Given the description of an element on the screen output the (x, y) to click on. 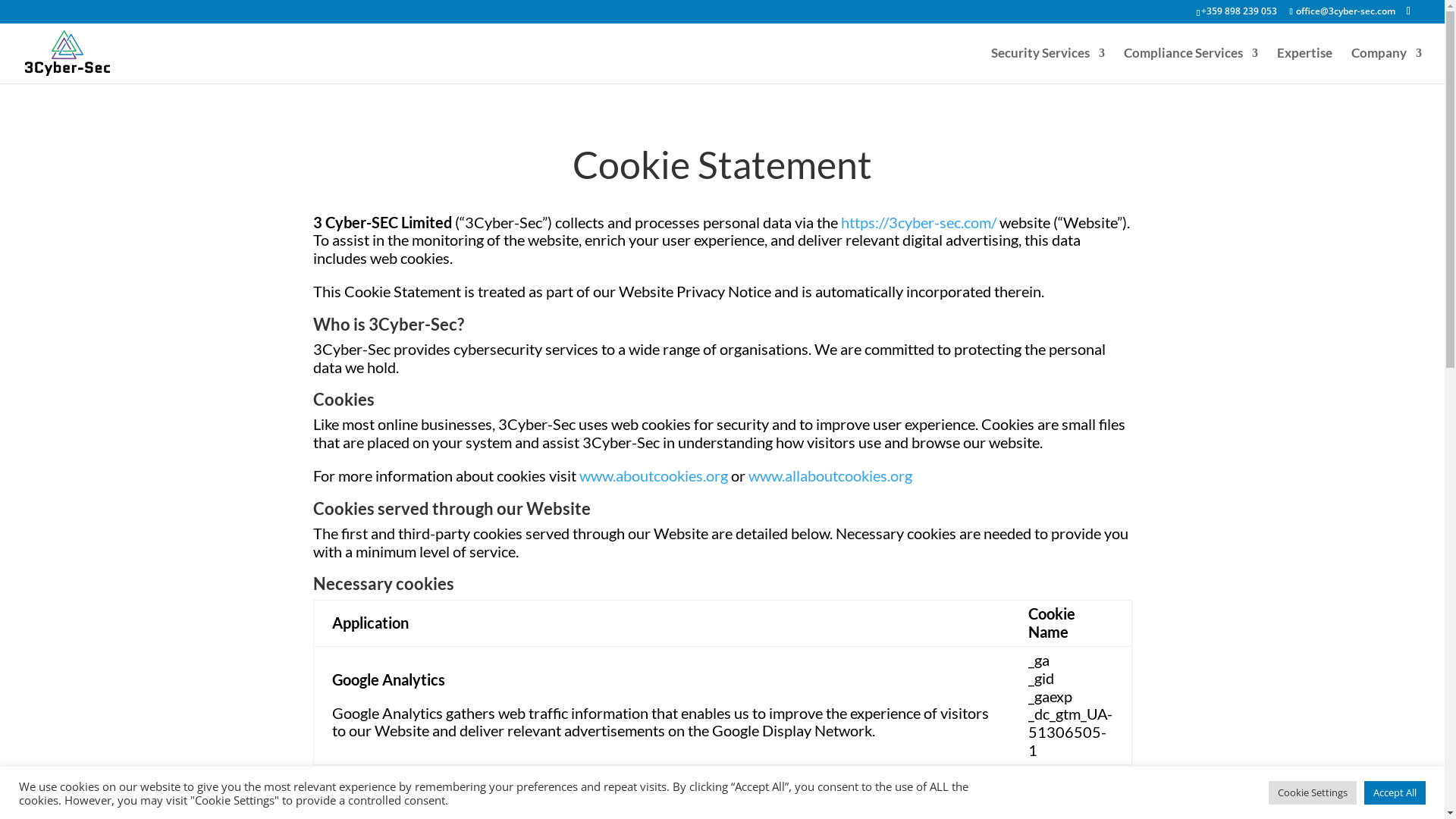
Cookie Settings Element type: text (1312, 792)
Expertise Element type: text (1304, 65)
Accept All Element type: text (1394, 792)
Compliance Services Element type: text (1190, 65)
www.aboutcookies.org Element type: text (653, 475)
www.allaboutcookies.org Element type: text (829, 475)
https://3cyber-sec.com/ Element type: text (917, 222)
office@3cyber-sec.com Element type: text (1341, 10)
Company Element type: text (1386, 65)
Security Services Element type: text (1047, 65)
